Given the description of an element on the screen output the (x, y) to click on. 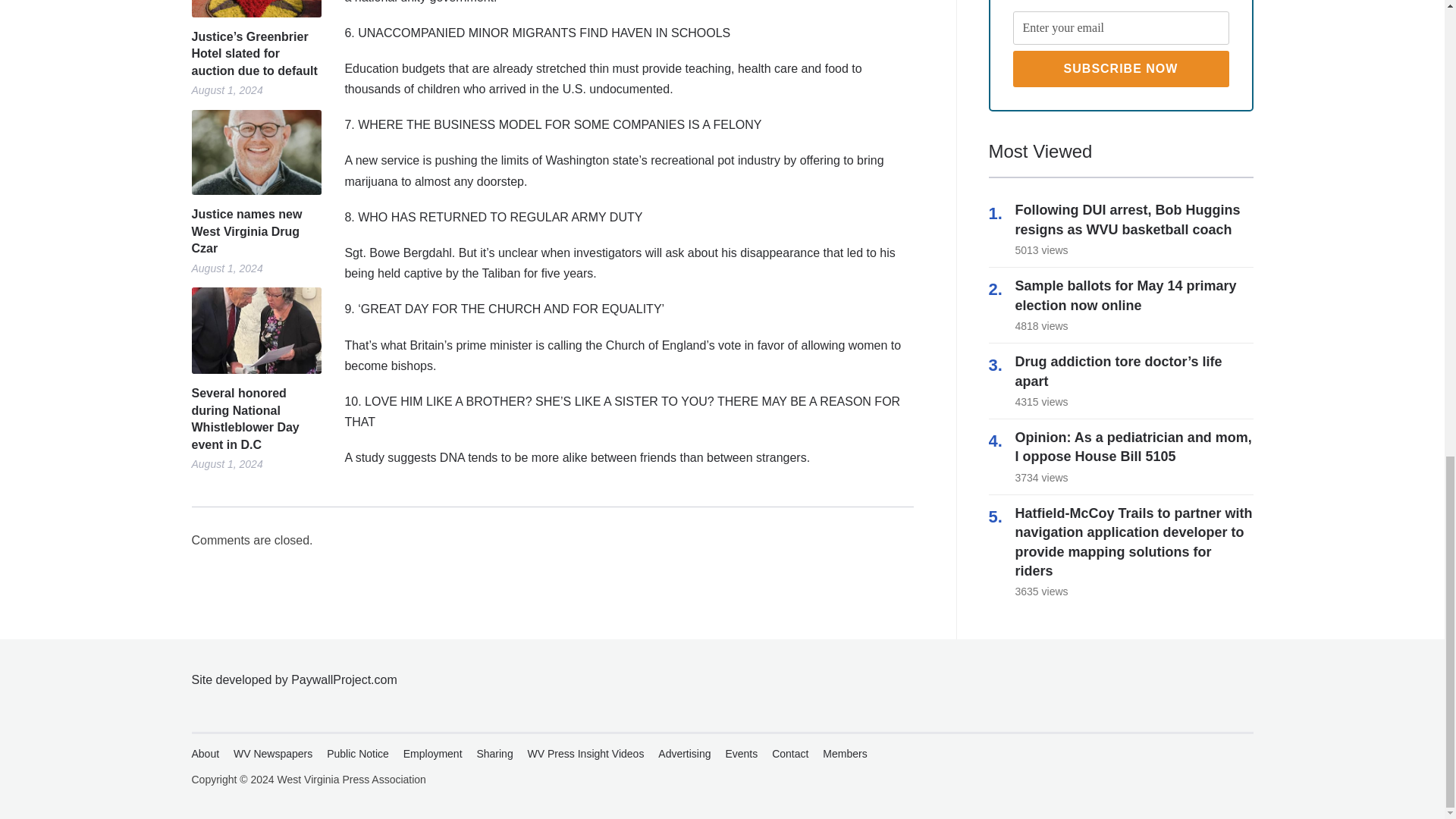
Permalink to Justice names new West Virginia Drug Czar (255, 152)
Subscribe Now (1120, 68)
Permalink to Justice names new West Virginia Drug Czar (255, 231)
